Given the description of an element on the screen output the (x, y) to click on. 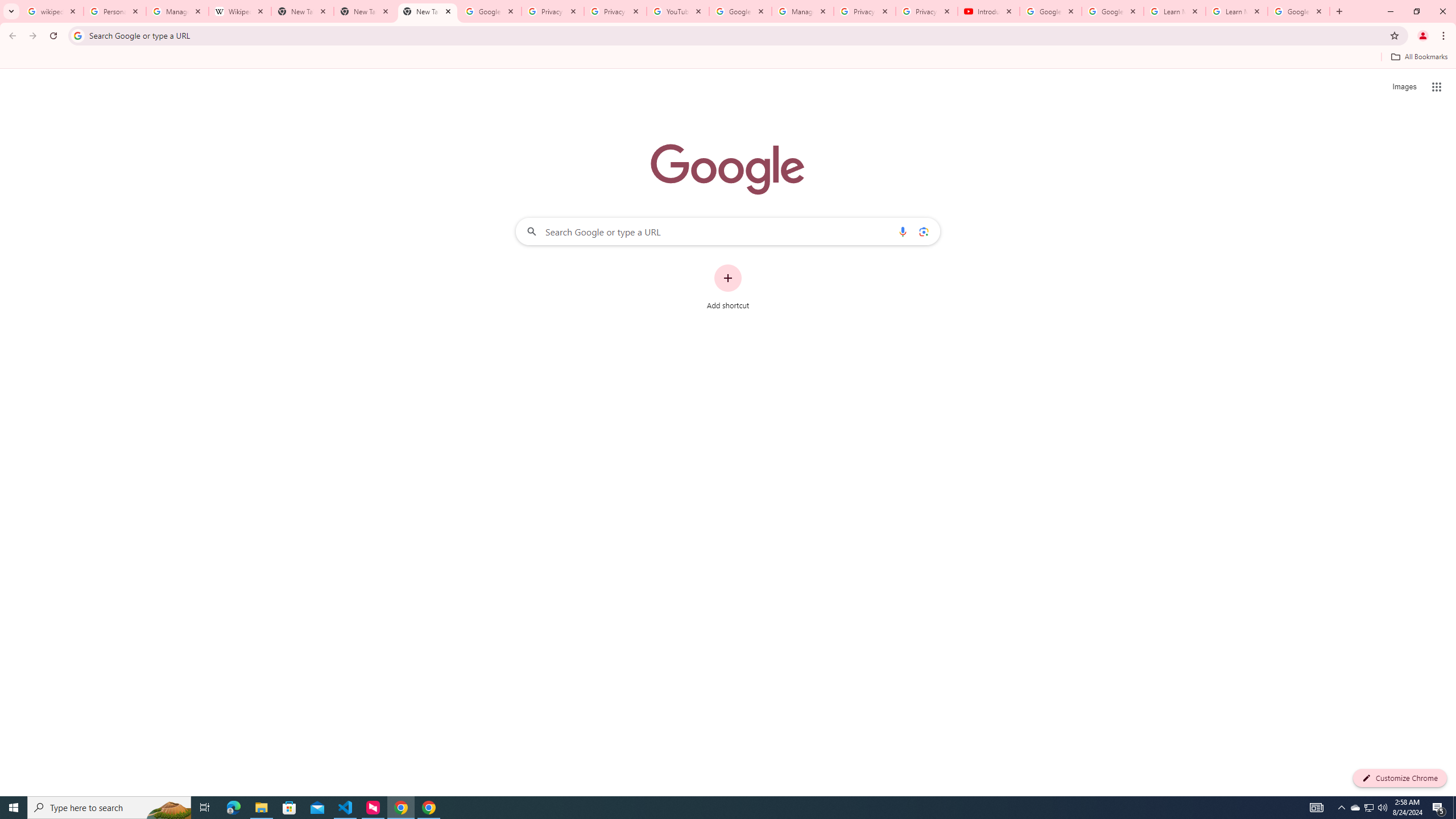
Google Account Help (1050, 11)
Google Account (1298, 11)
Introduction | Google Privacy Policy - YouTube (988, 11)
YouTube (678, 11)
